Given the description of an element on the screen output the (x, y) to click on. 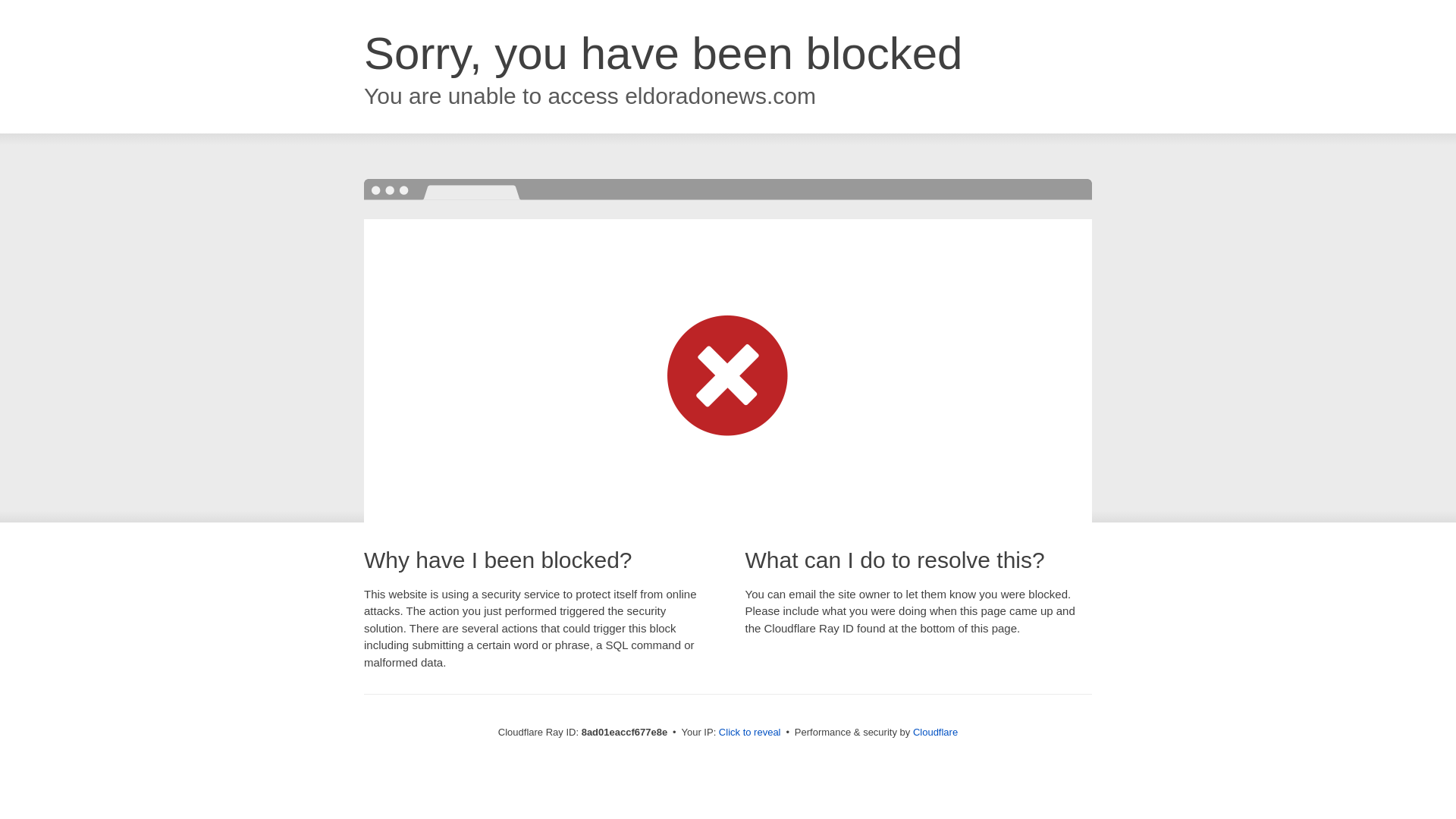
Click to reveal (749, 732)
Cloudflare (935, 731)
